Given the description of an element on the screen output the (x, y) to click on. 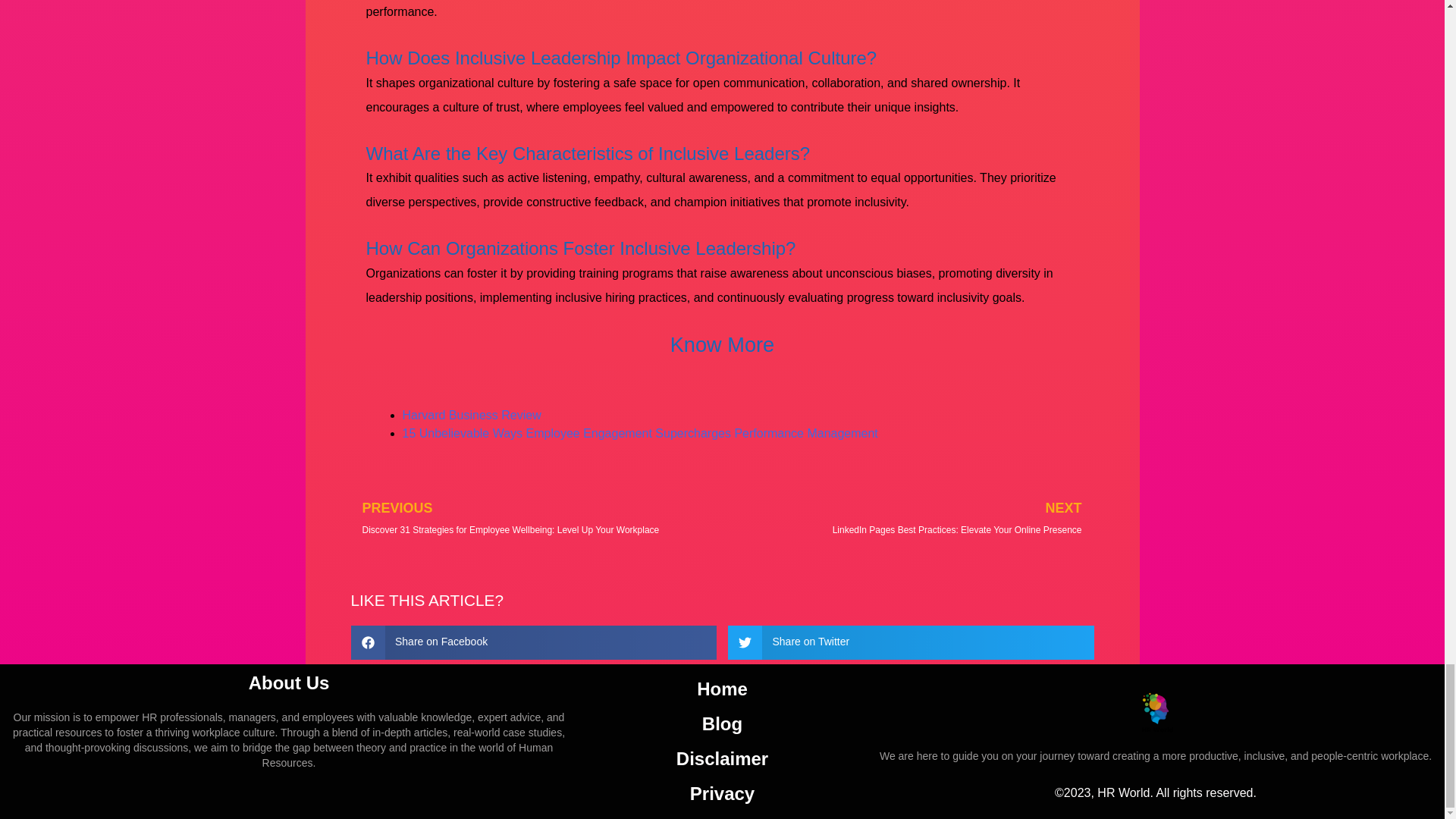
Privacy (722, 793)
Home (722, 688)
Harvard Business Review (470, 414)
Blog (722, 724)
Disclaimer (722, 759)
